Given the description of an element on the screen output the (x, y) to click on. 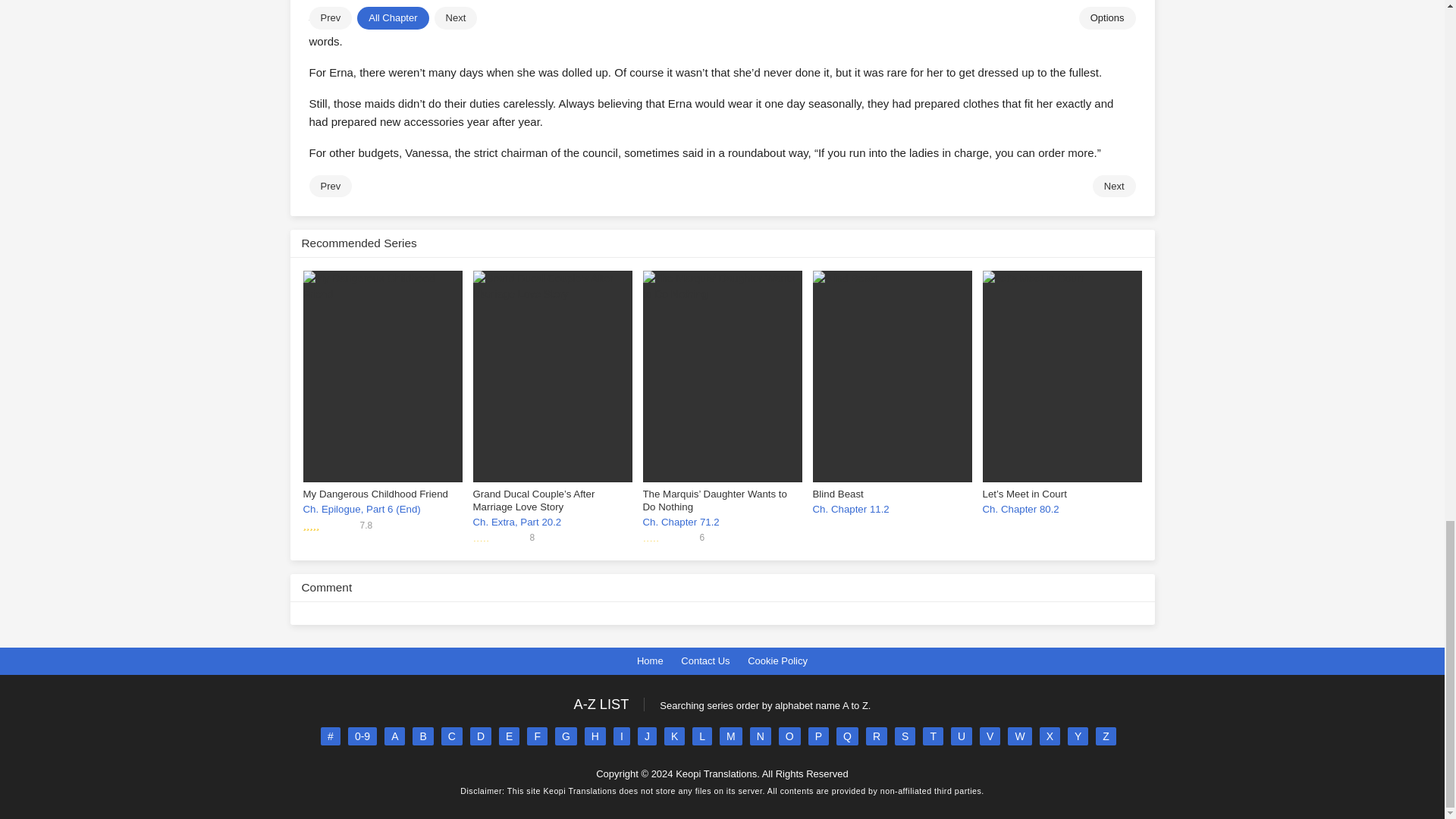
Contact Us (705, 660)
E (509, 736)
0-9 (362, 736)
G (565, 736)
F (537, 736)
Cookie Policy (778, 660)
H (595, 736)
Home (650, 660)
A (394, 736)
C (452, 736)
